Given the description of an element on the screen output the (x, y) to click on. 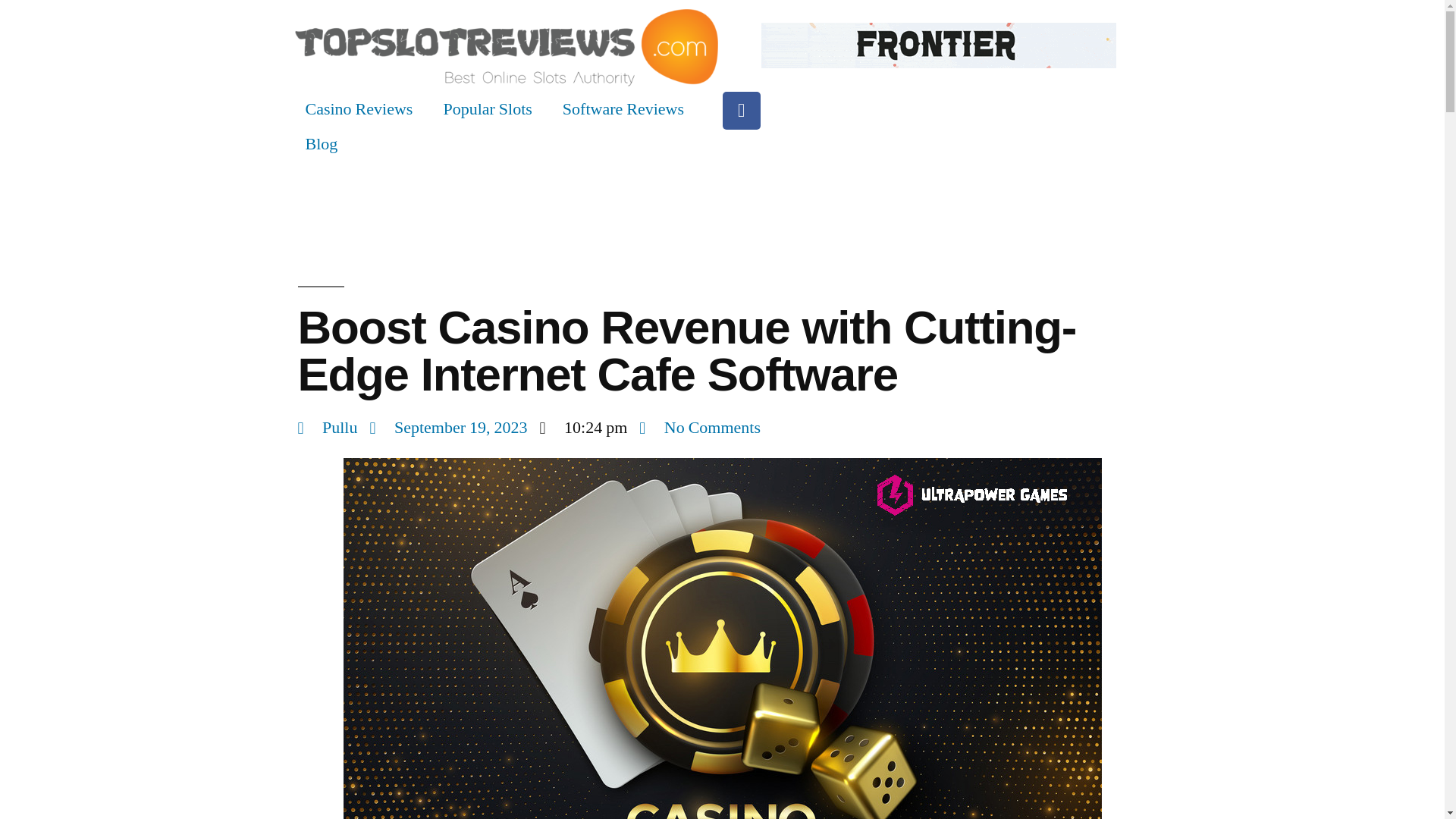
September 19, 2023 (448, 428)
Popular Slots (487, 108)
Casino Reviews (358, 108)
No Comments (699, 428)
Blog (320, 143)
Software Reviews (622, 108)
Pullu (326, 428)
